Given the description of an element on the screen output the (x, y) to click on. 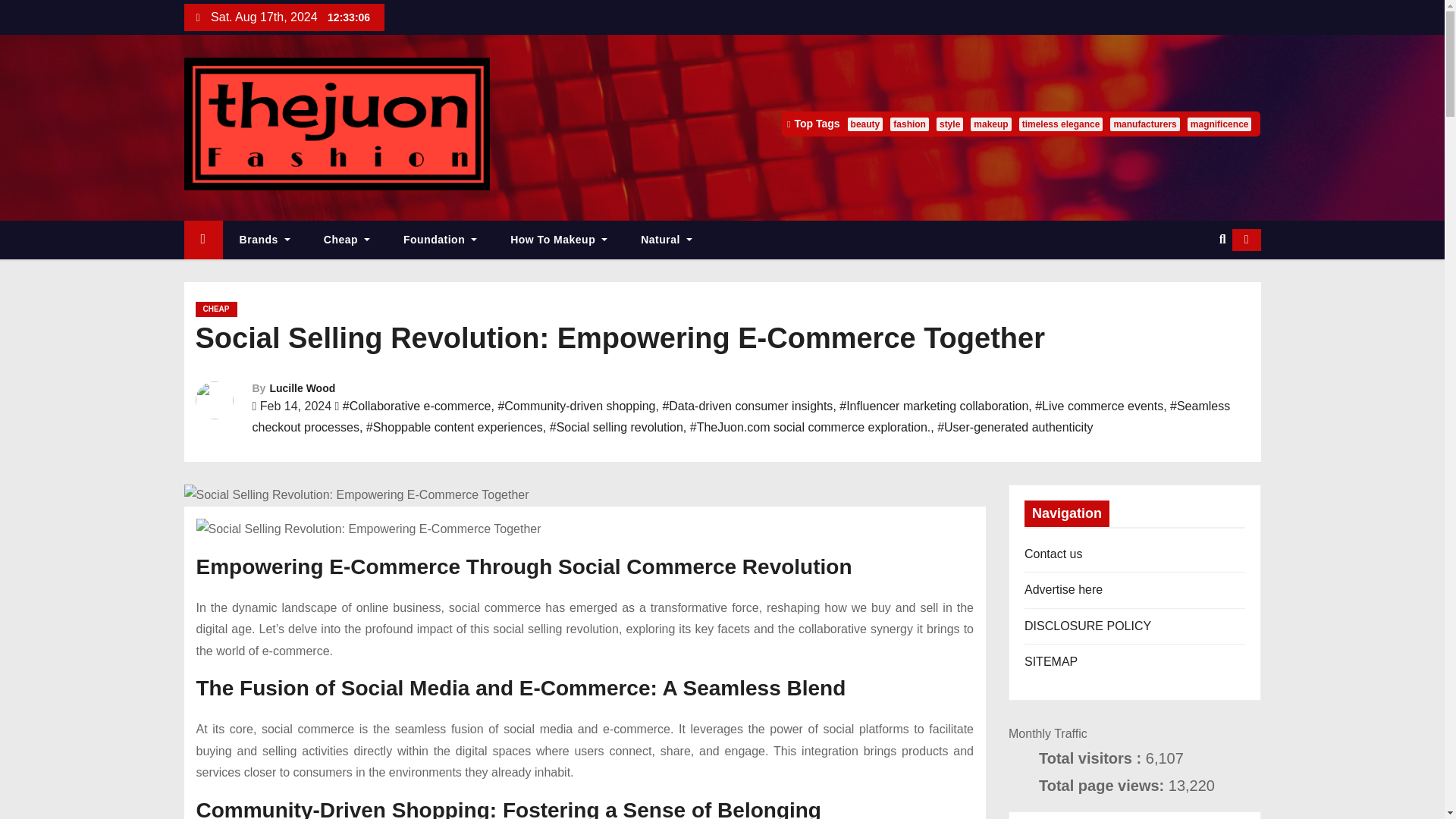
How To Makeup (558, 239)
manufacturers (1144, 124)
Cheap (347, 239)
makeup (990, 124)
Cheap (347, 239)
Foundation (440, 239)
Home (202, 239)
beauty (865, 124)
Natural (666, 239)
style (949, 124)
